Given the description of an element on the screen output the (x, y) to click on. 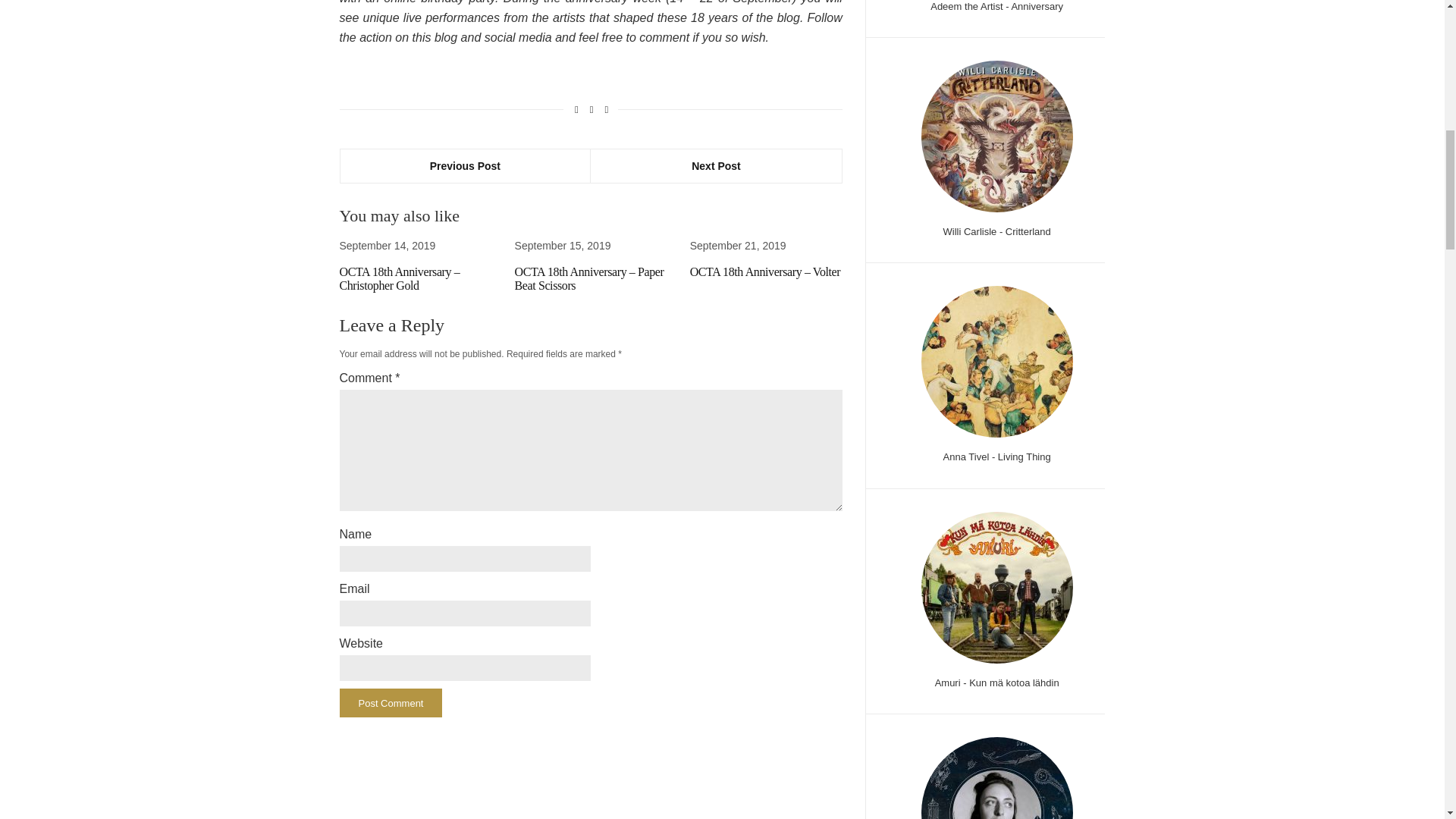
Next Post (716, 165)
Previous Post (465, 165)
Post Comment (390, 702)
Post Comment (390, 702)
